Given the description of an element on the screen output the (x, y) to click on. 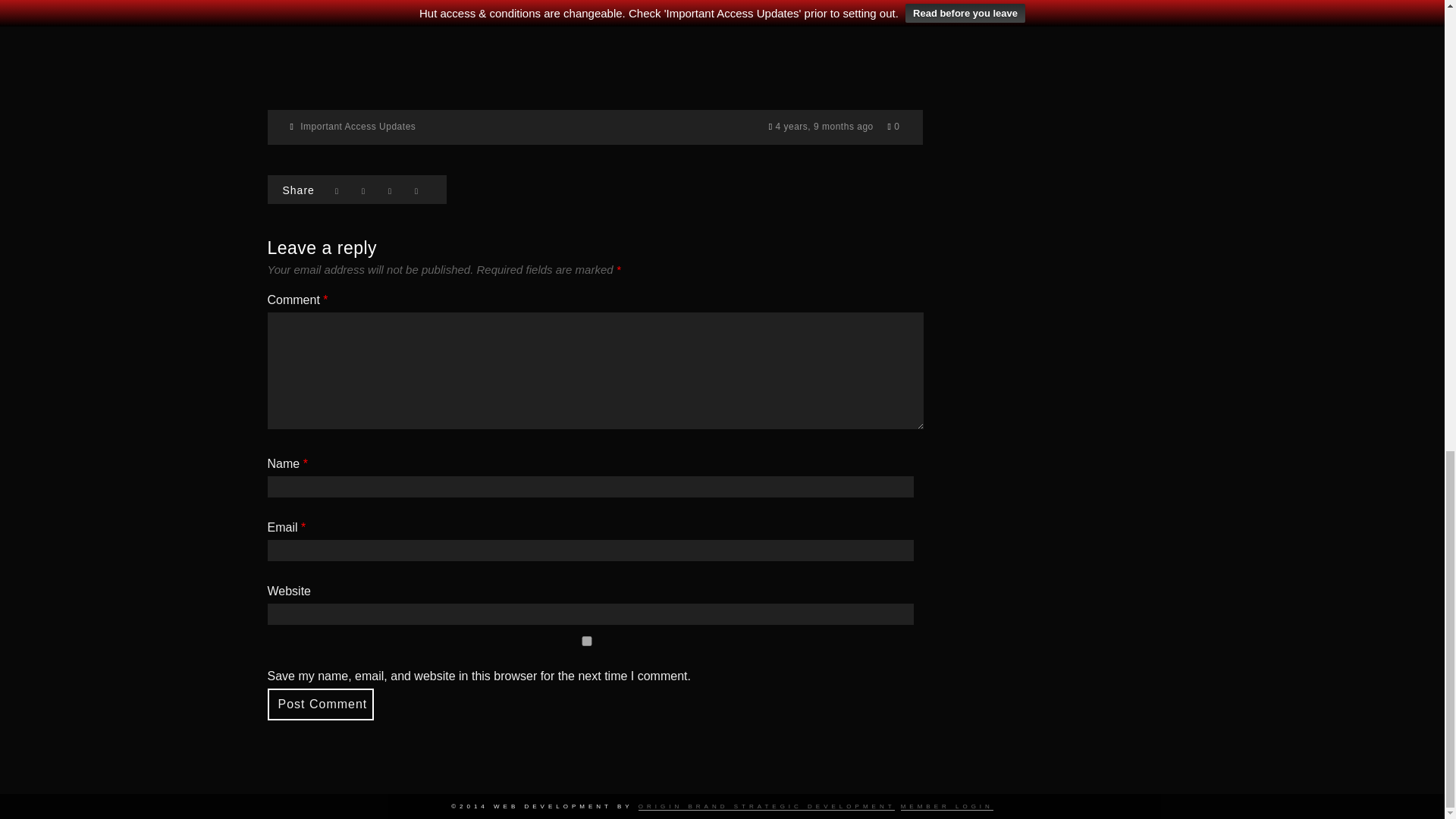
Post Comment (319, 704)
yes (585, 641)
